Given the description of an element on the screen output the (x, y) to click on. 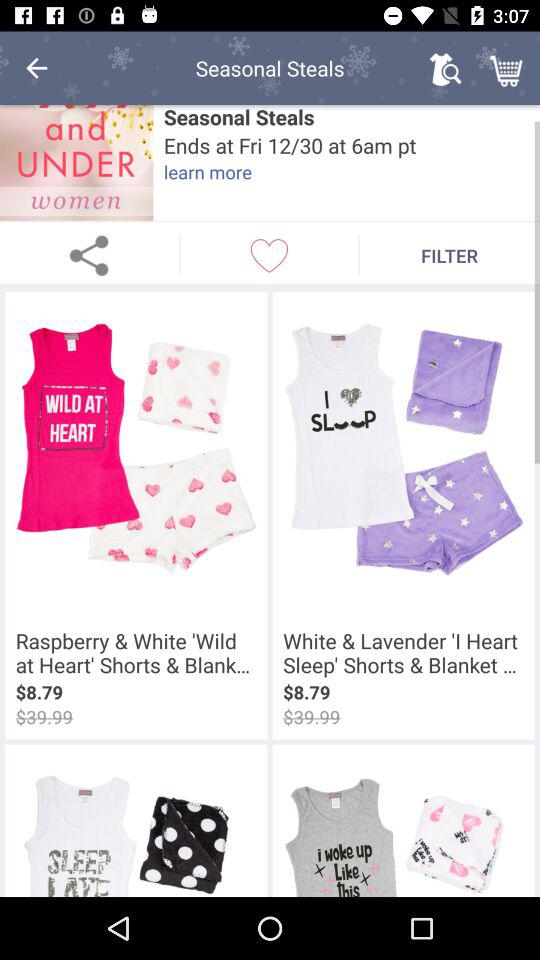
share page (89, 255)
